Given the description of an element on the screen output the (x, y) to click on. 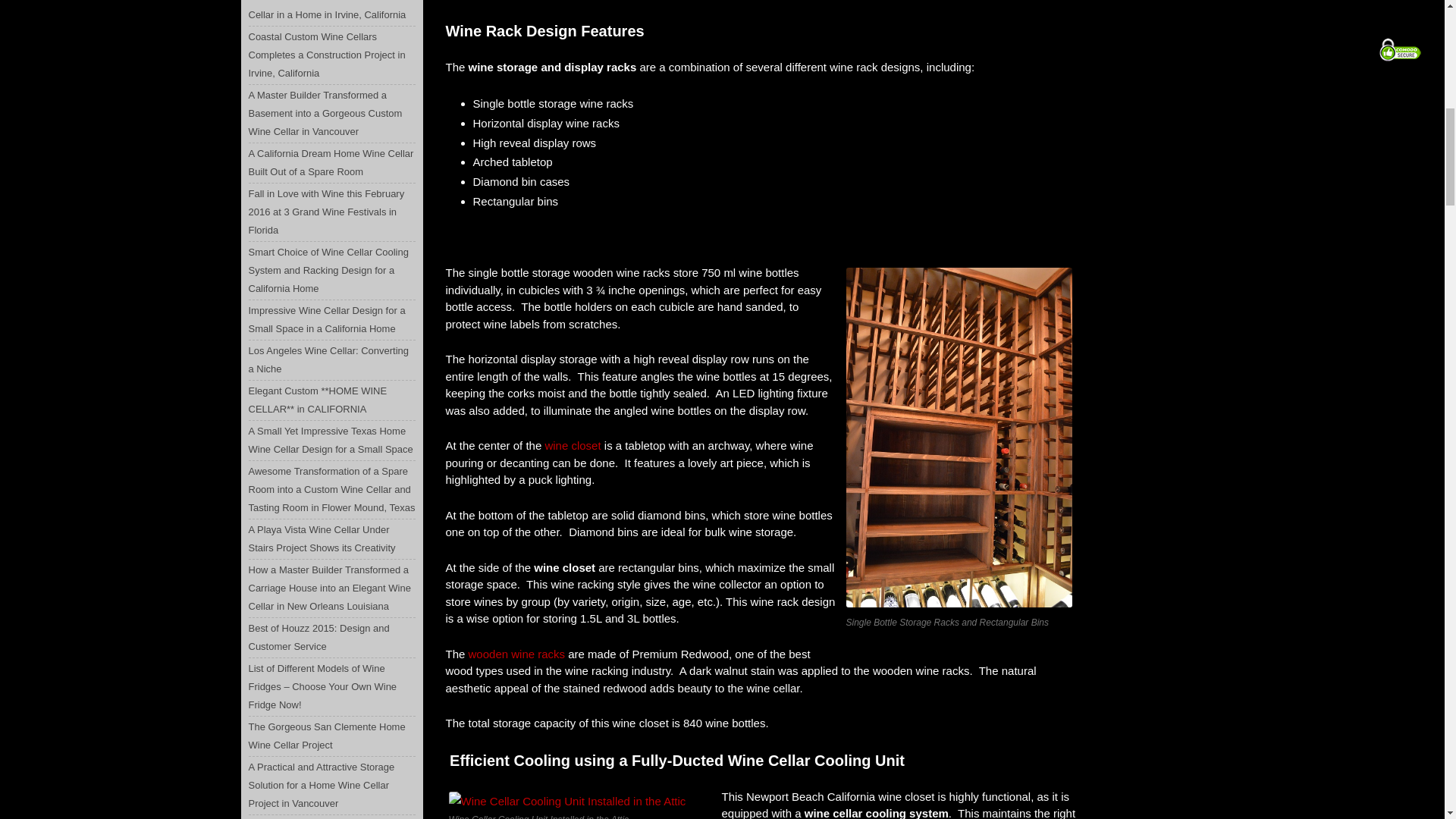
Visit our wine racks page here. (517, 653)
See more custom wine cellar designs here. (571, 445)
